Given the description of an element on the screen output the (x, y) to click on. 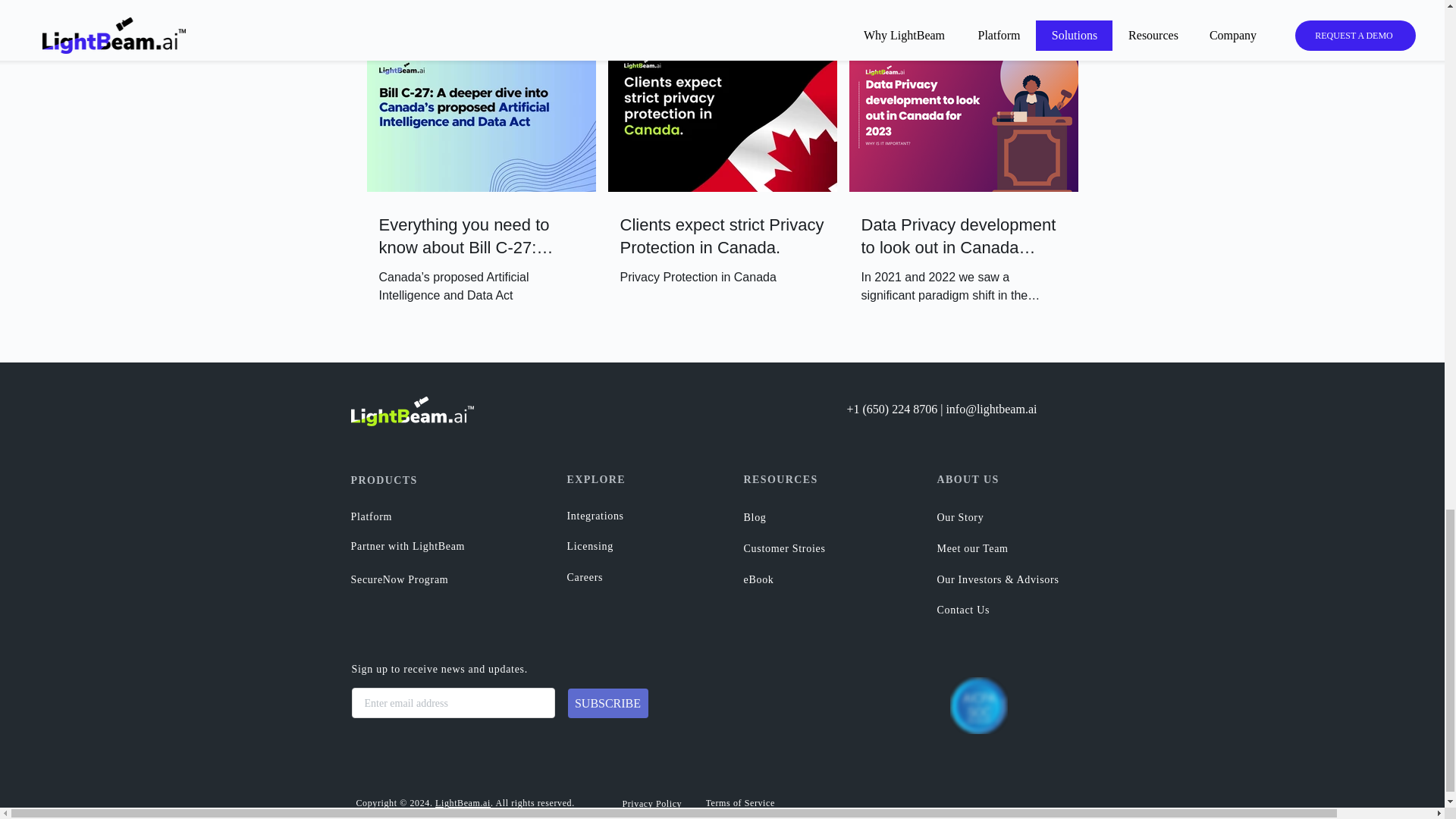
Blog (788, 517)
Data Privacy development to look out in Canada for 2023 (963, 237)
Licensing (621, 545)
Clients expect strict Privacy Protection in Canada. (722, 237)
Customer Stroies (796, 548)
eBook (796, 579)
Careers (621, 576)
Platform (432, 516)
LightBeam.ai (462, 802)
Partner with LightBeam (427, 545)
